Given the description of an element on the screen output the (x, y) to click on. 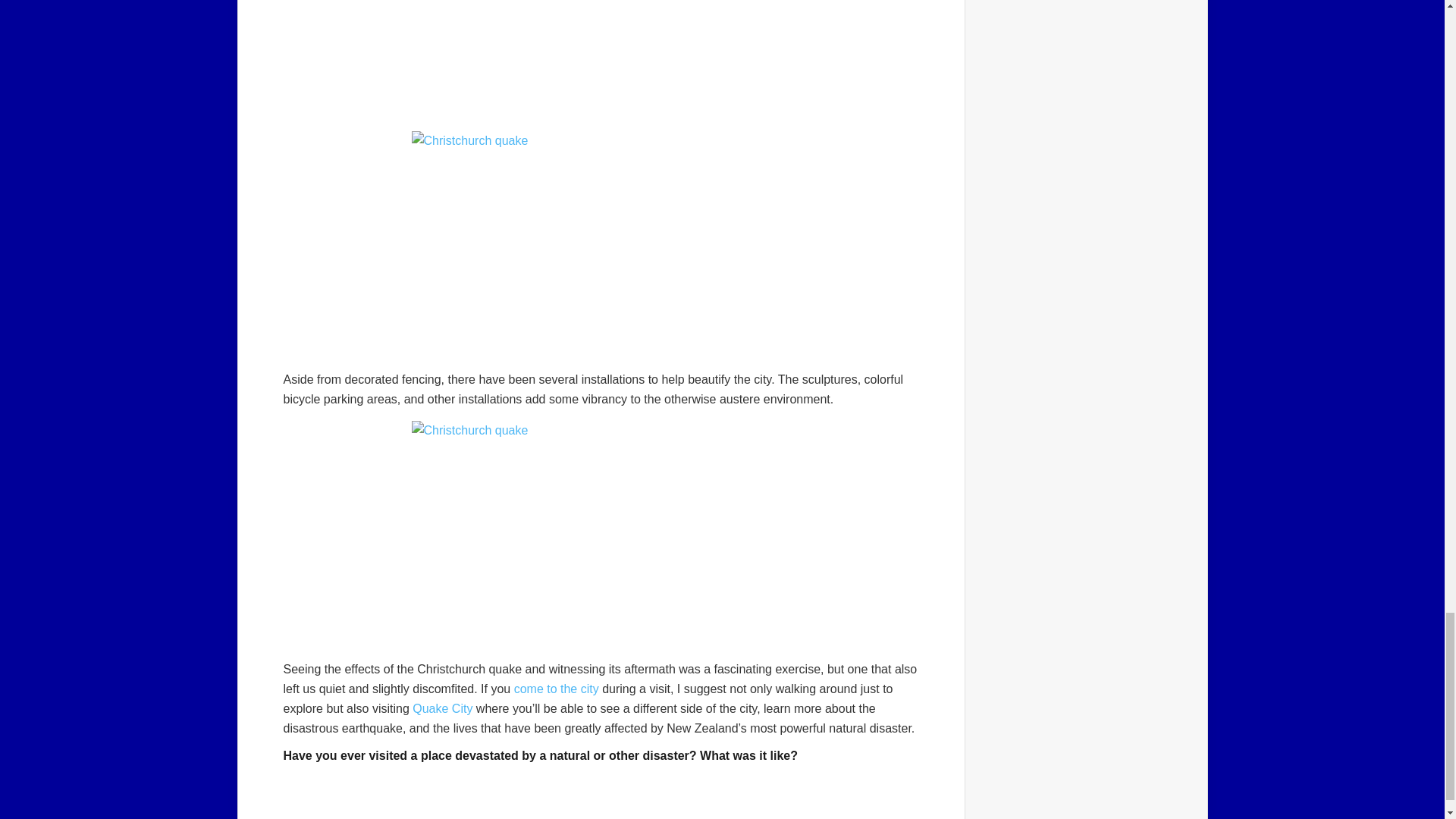
Only a wall remains (600, 58)
Astroturf lounging (600, 534)
Abandoned building (600, 244)
Traveling between the cities of New Zealand (555, 688)
